Given the description of an element on the screen output the (x, y) to click on. 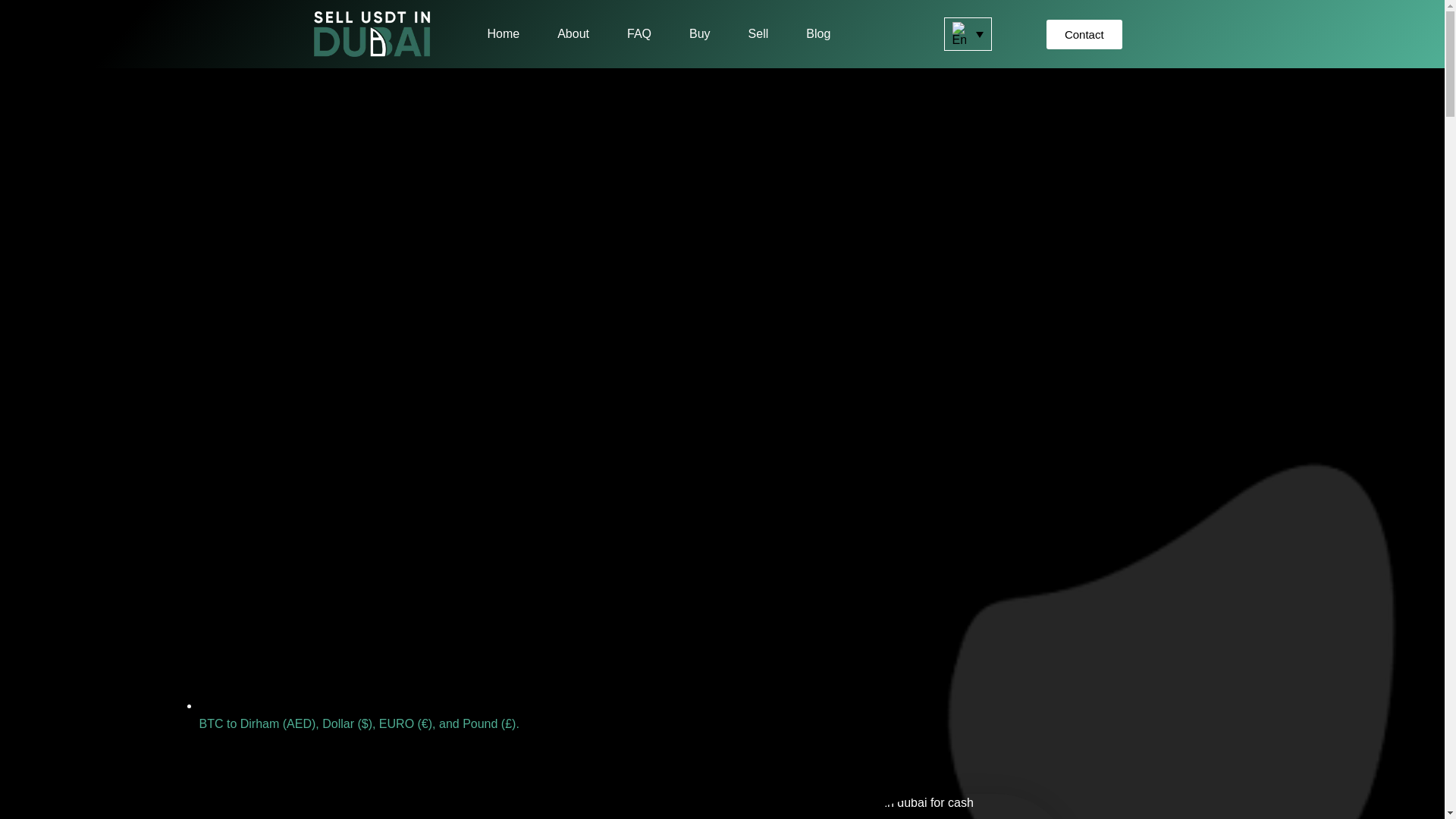
Sell (758, 33)
Buy (699, 33)
Home (502, 33)
FAQ (638, 33)
Contact (1084, 34)
Sell Btc In Dubai For Cash (900, 806)
About (573, 33)
Blog (817, 33)
